Given the description of an element on the screen output the (x, y) to click on. 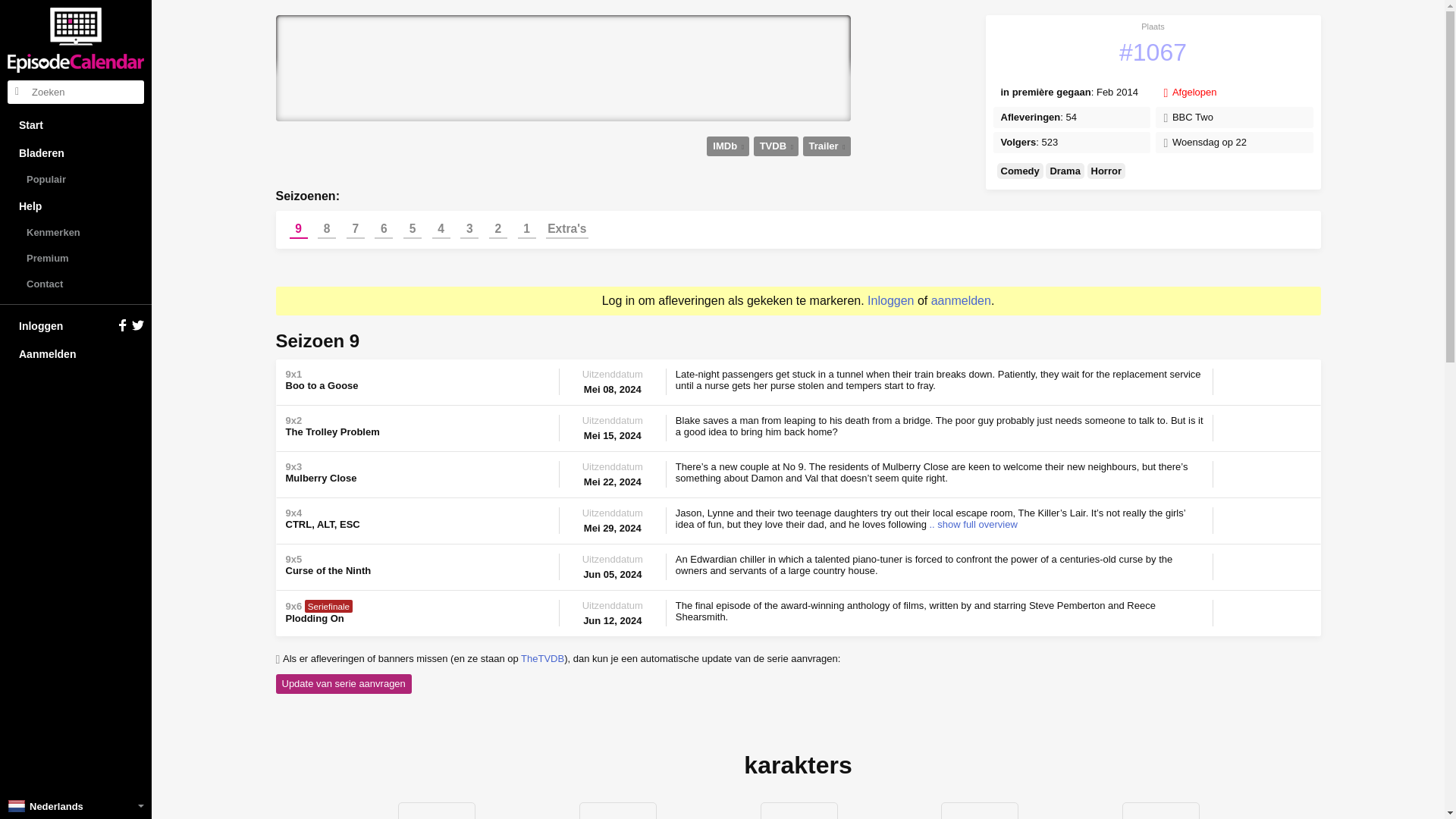
Extra's (567, 229)
9 (298, 229)
Inloggen (890, 300)
5 (412, 229)
TVDB (775, 146)
Contact (75, 283)
Inloggen (75, 325)
Kenmerken (75, 232)
6 (383, 229)
Populair (75, 179)
